Given the description of an element on the screen output the (x, y) to click on. 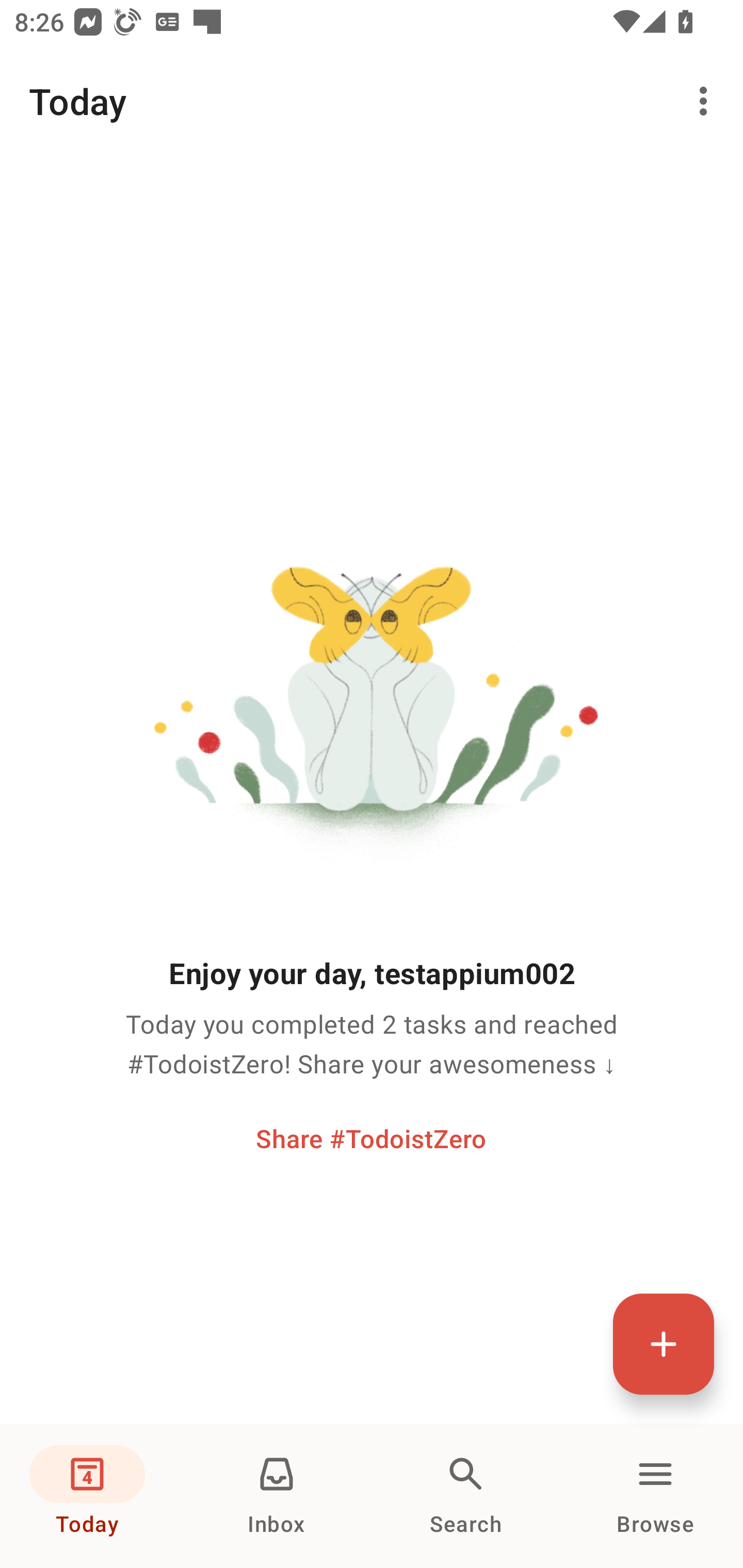
Today More options (371, 100)
More options (706, 101)
Share #TodoistZero (370, 1138)
Quick add (663, 1343)
Inbox (276, 1495)
Search (465, 1495)
Browse (655, 1495)
